Given the description of an element on the screen output the (x, y) to click on. 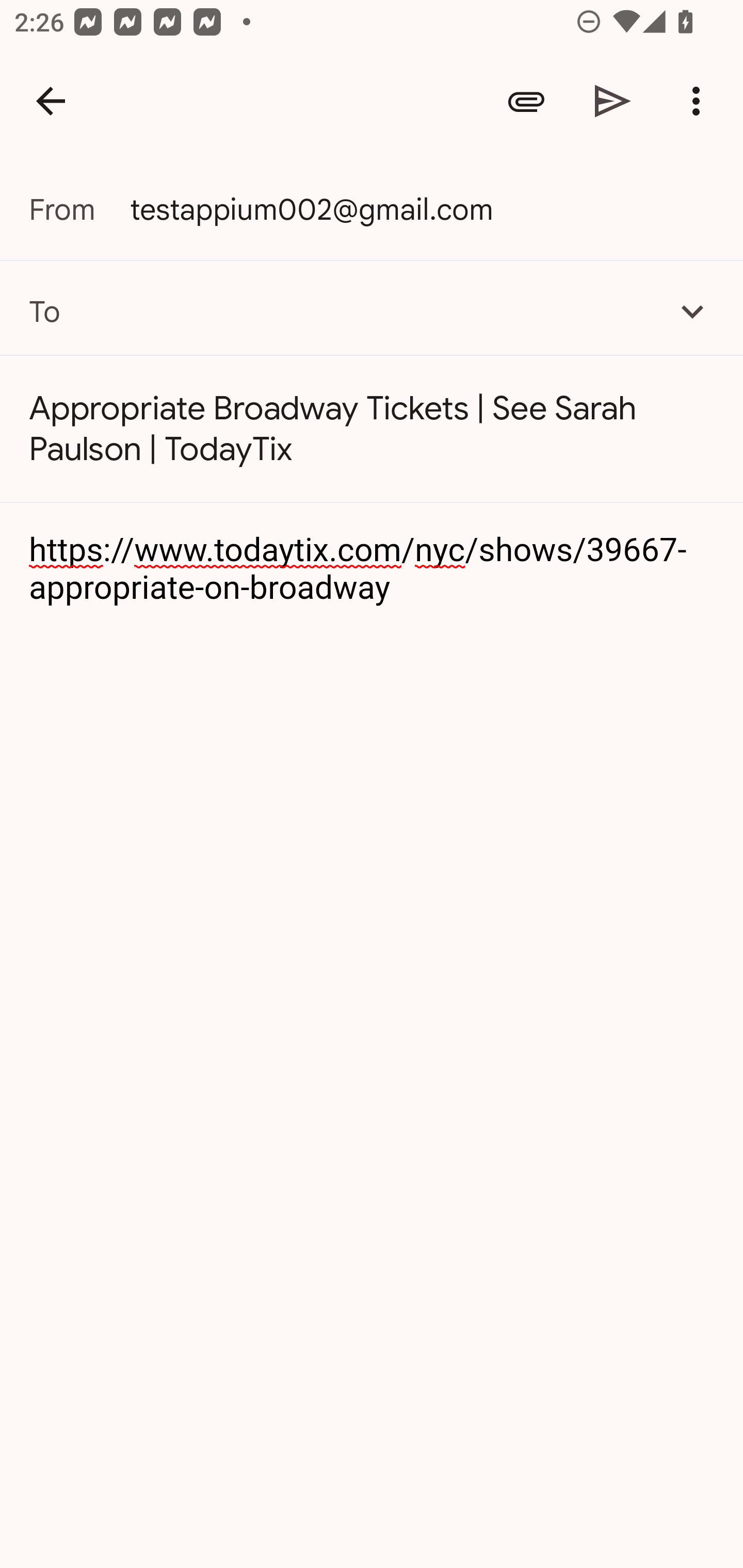
Navigate up (50, 101)
Attach file (525, 101)
Send (612, 101)
More options (699, 101)
From (79, 209)
Add Cc/Bcc (692, 311)
